Given the description of an element on the screen output the (x, y) to click on. 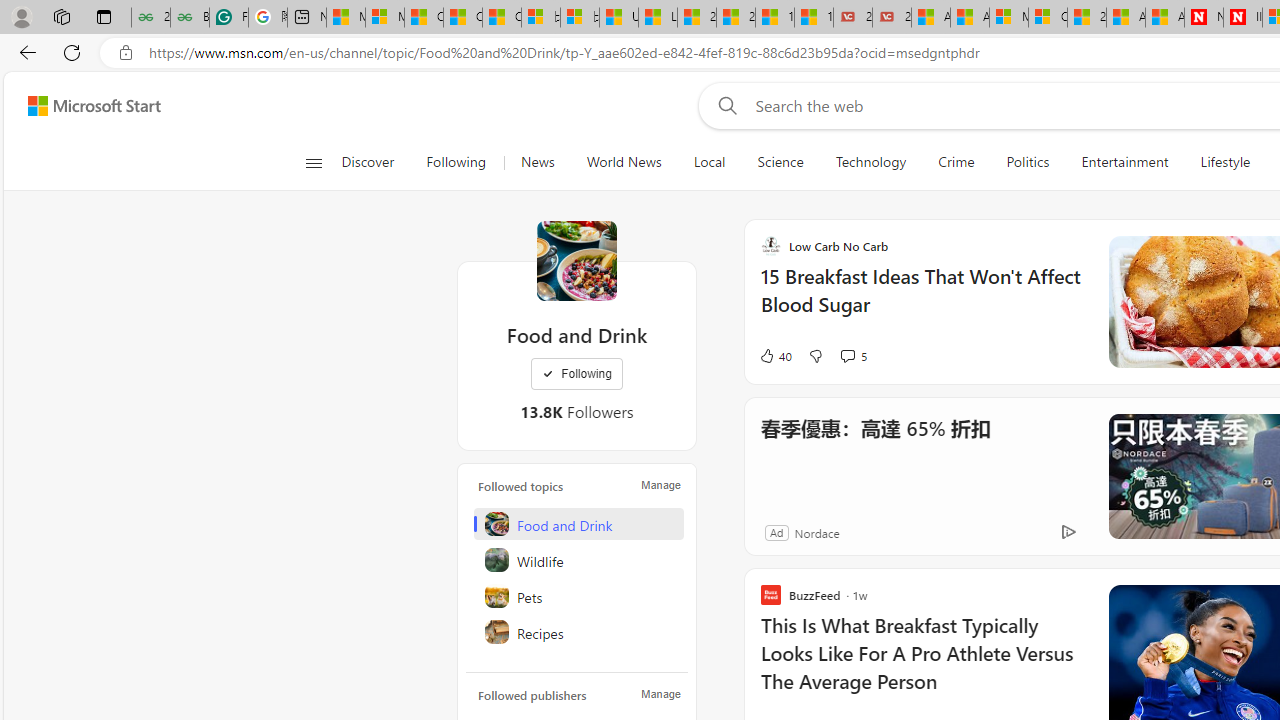
Pets (578, 596)
View comments 5 Comment (852, 355)
Food and Drink (576, 260)
15 Breakfast Ideas That Won't Affect Blood Sugar (922, 300)
